Given the description of an element on the screen output the (x, y) to click on. 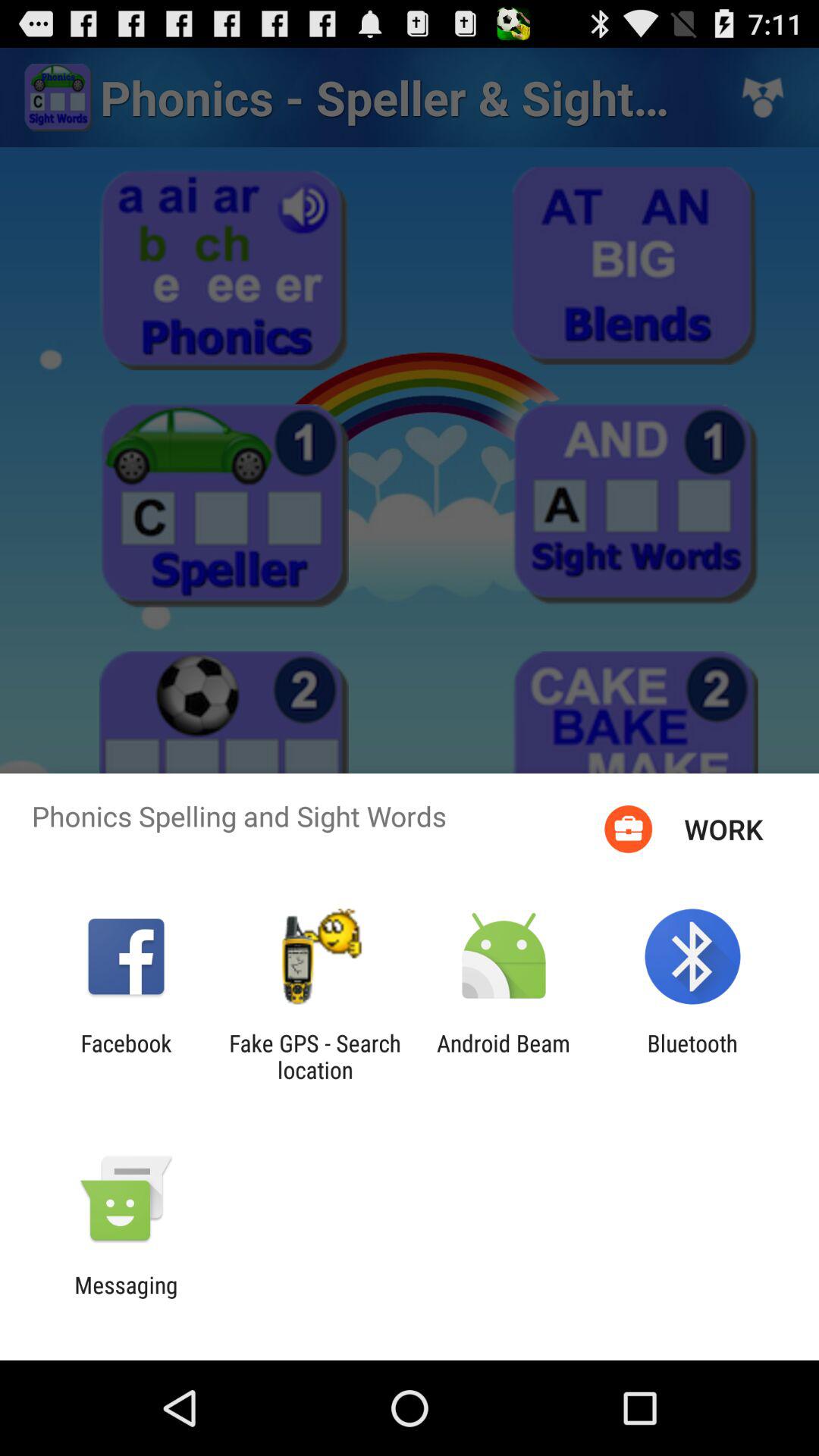
select the app to the left of bluetooth app (503, 1056)
